Given the description of an element on the screen output the (x, y) to click on. 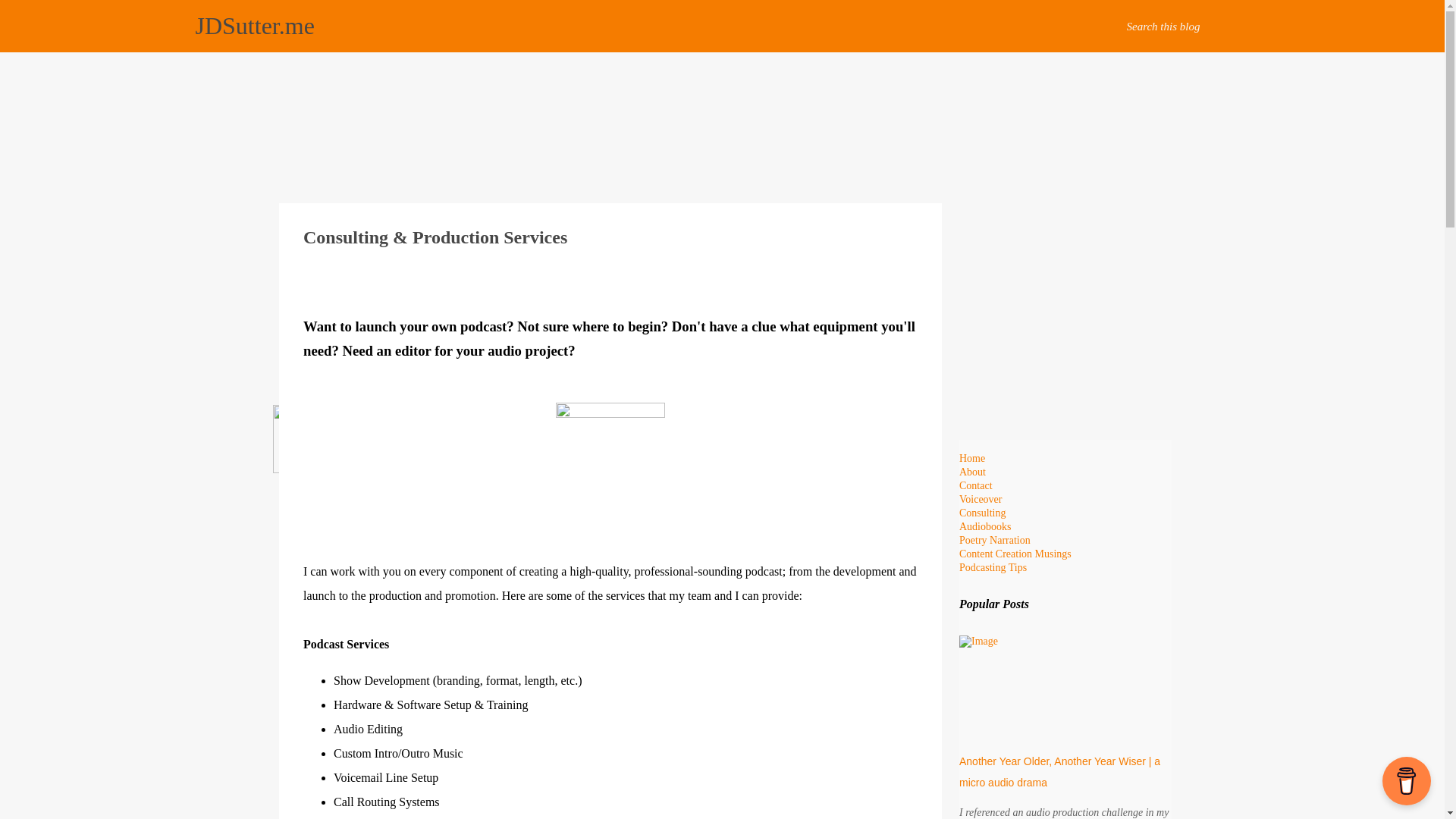
About (972, 471)
Podcasting Tips (992, 567)
Consulting (982, 512)
Audiobooks (984, 526)
Poetry Narration (994, 540)
Home (972, 458)
Content Creation Musings (1015, 553)
JDSutter.me (254, 25)
Voiceover (981, 499)
Contact (975, 485)
